Given the description of an element on the screen output the (x, y) to click on. 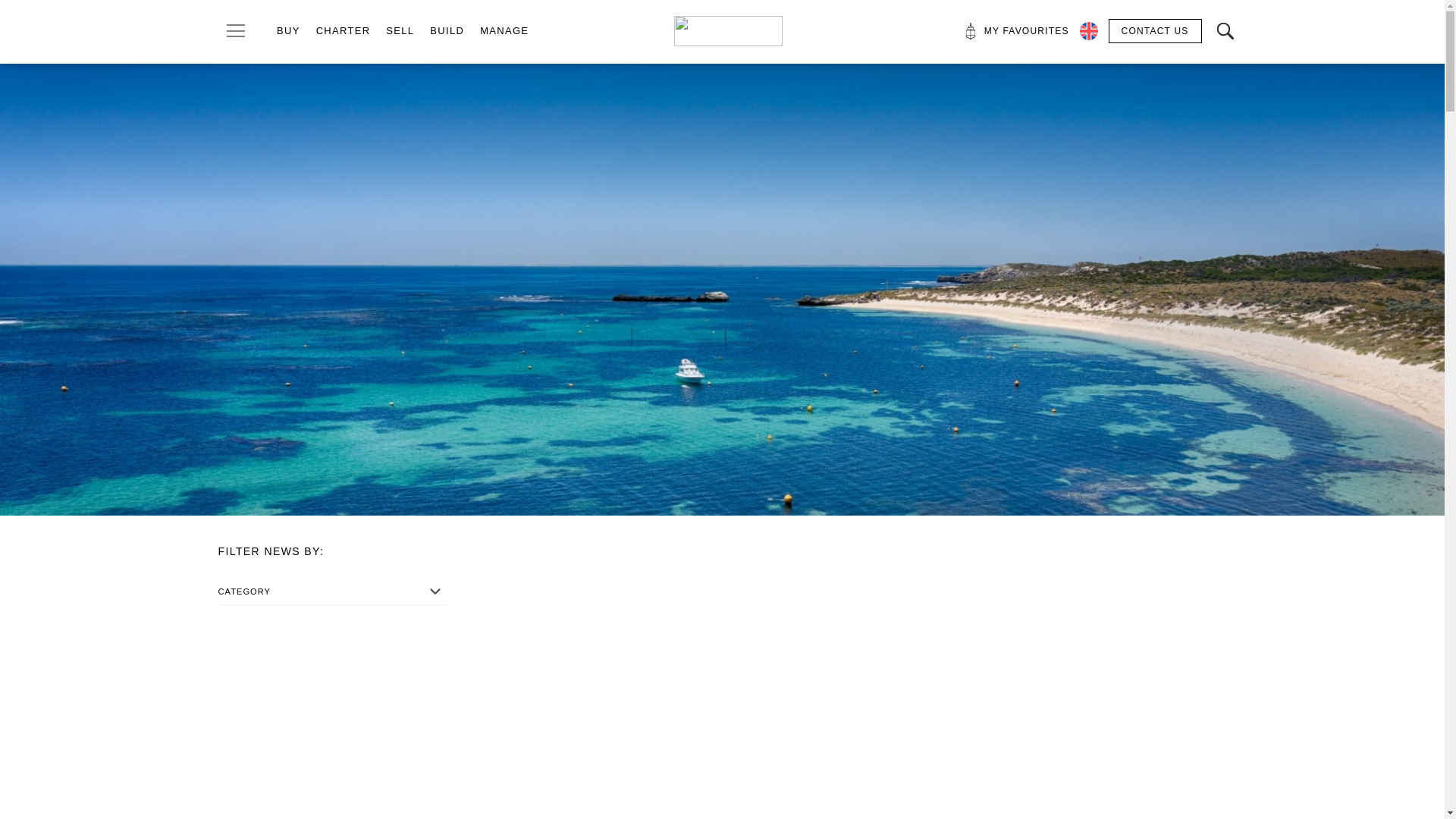
BUY (287, 30)
Toggle the search overlay (1224, 31)
SELL (399, 30)
CHARTER (343, 30)
BUILD (446, 30)
MANAGE (504, 30)
Toggle the navigation overlay (235, 30)
CONTACT US (1155, 30)
MY FAVOURITES (1015, 30)
